Given the description of an element on the screen output the (x, y) to click on. 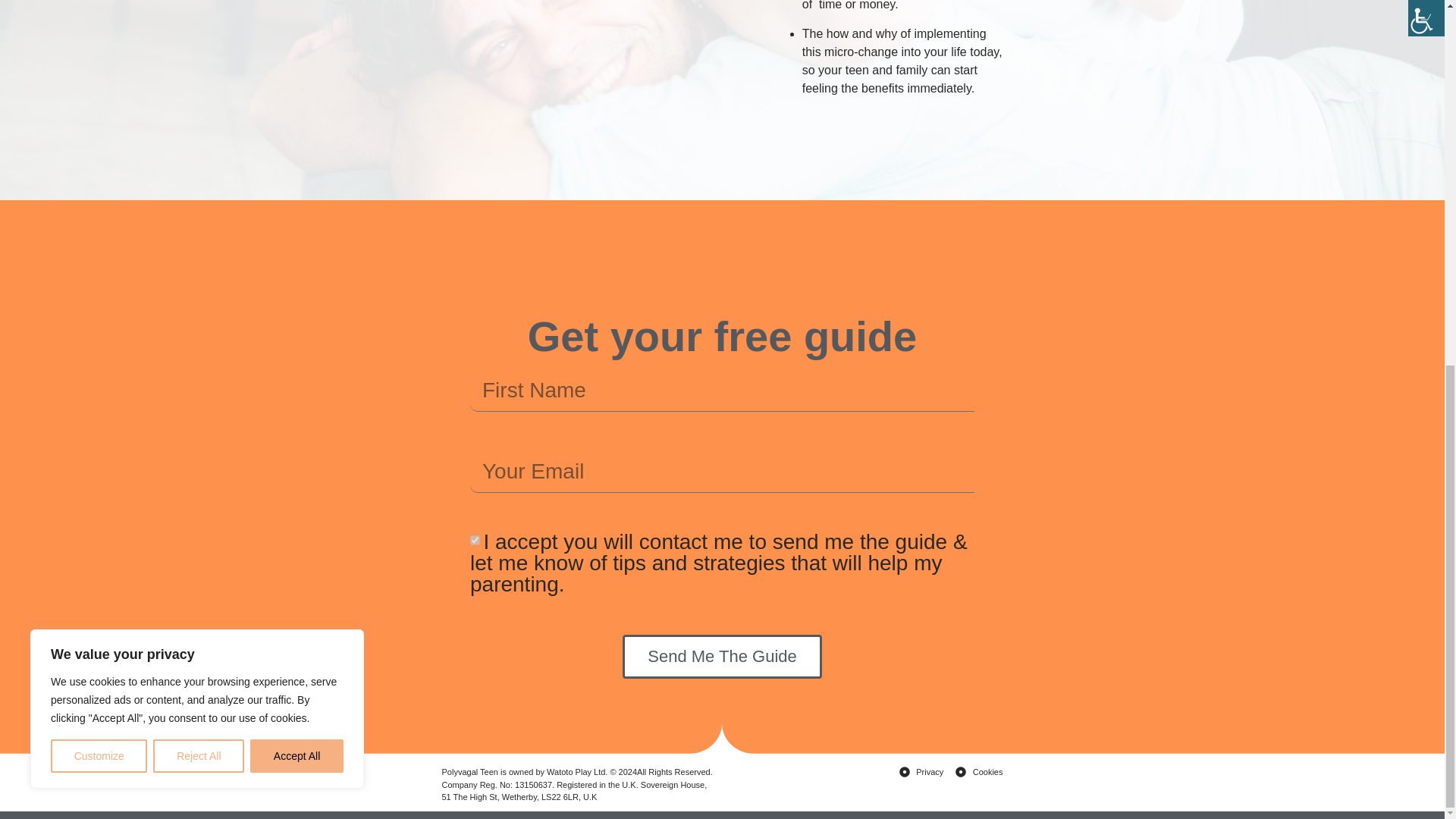
Send Me The Guide (722, 656)
Reject All (198, 99)
Accept All (296, 99)
Customize (98, 99)
on (475, 540)
